Given the description of an element on the screen output the (x, y) to click on. 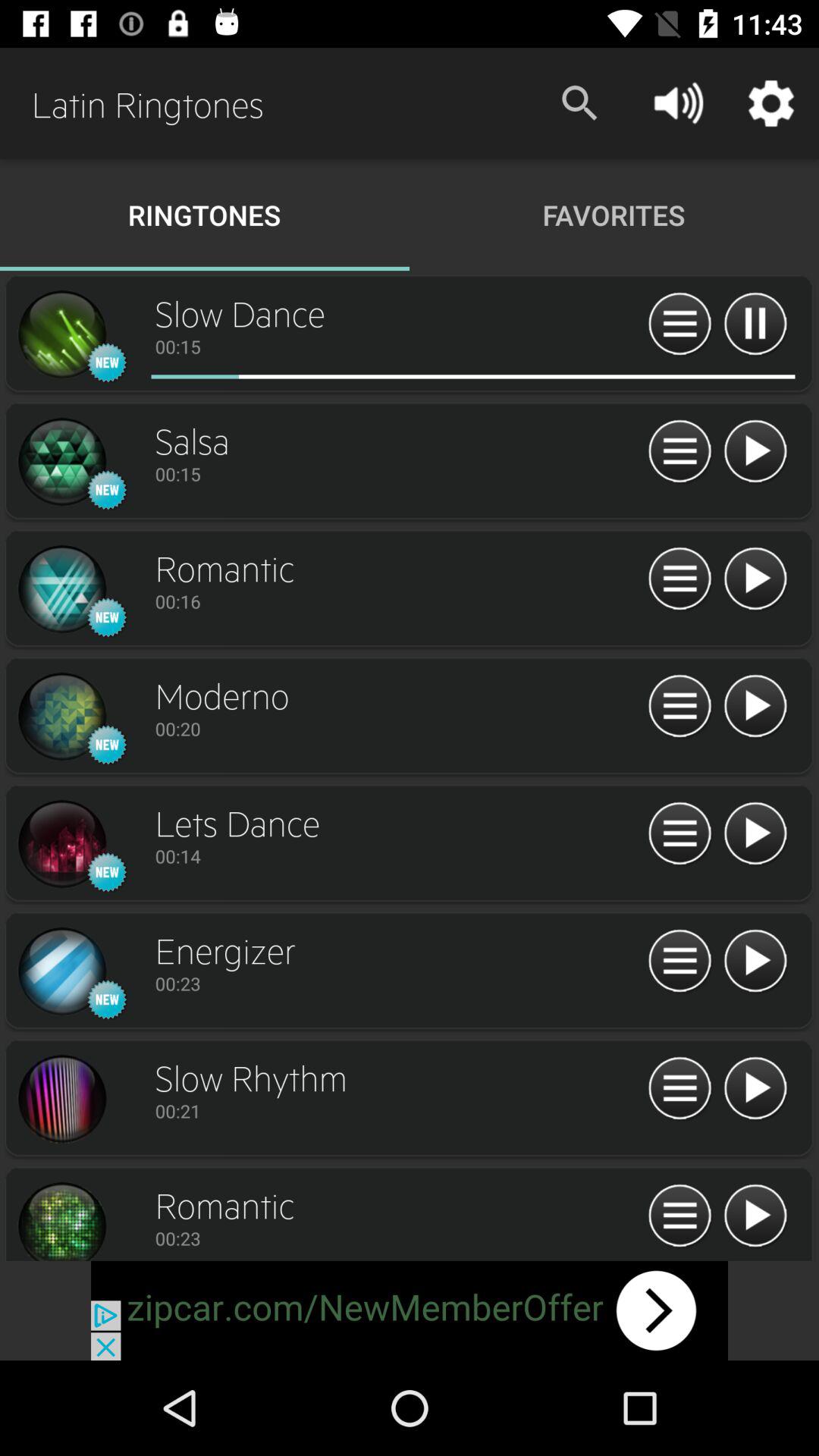
select the text which is above the text 0014 (397, 822)
click on search icon right to latin ringtones (580, 103)
selecticon which is before romantic on the page (61, 589)
go to the text below slow dance (397, 346)
